Given the description of an element on the screen output the (x, y) to click on. 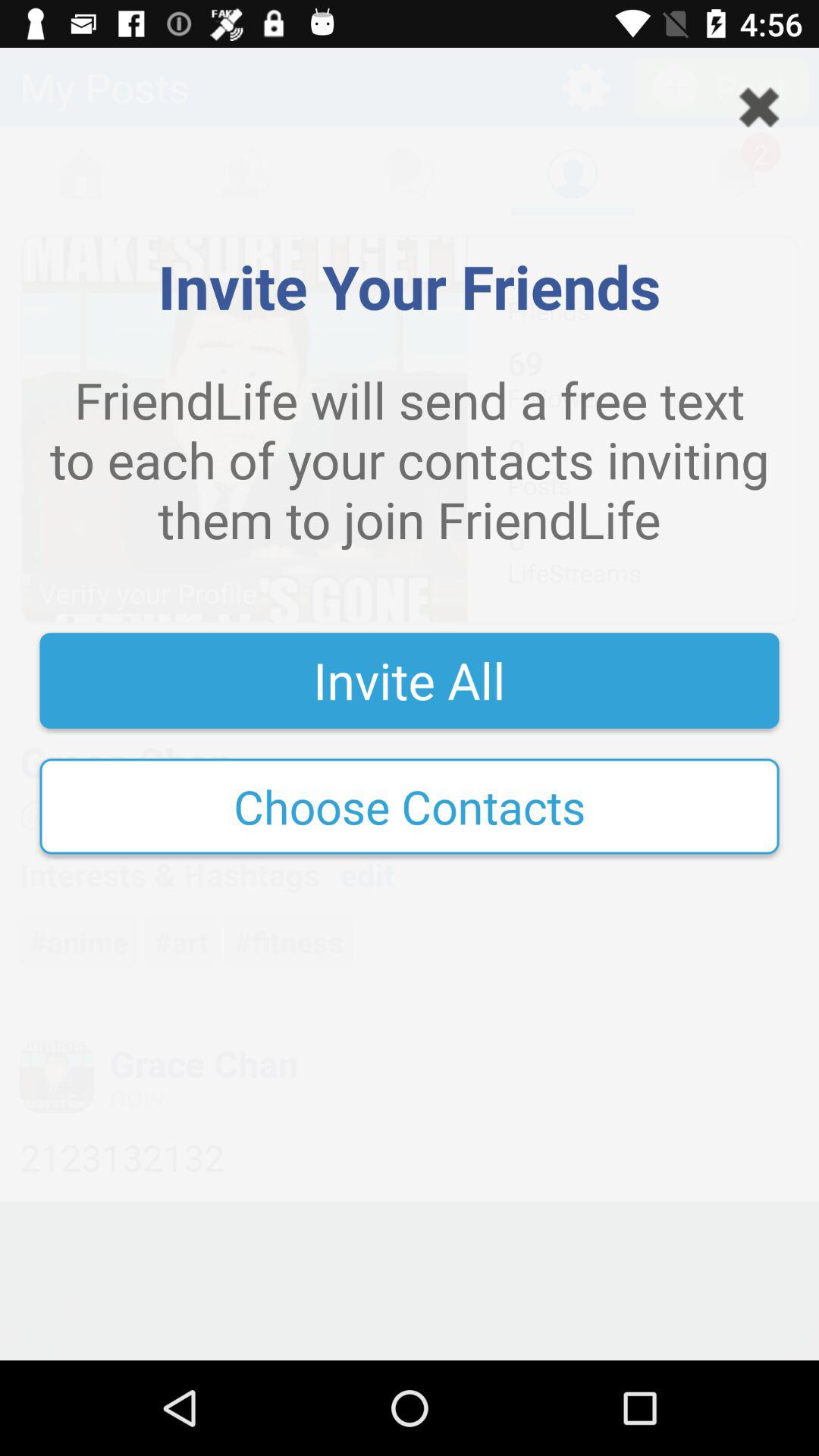
choose the icon below the invite all item (409, 806)
